Given the description of an element on the screen output the (x, y) to click on. 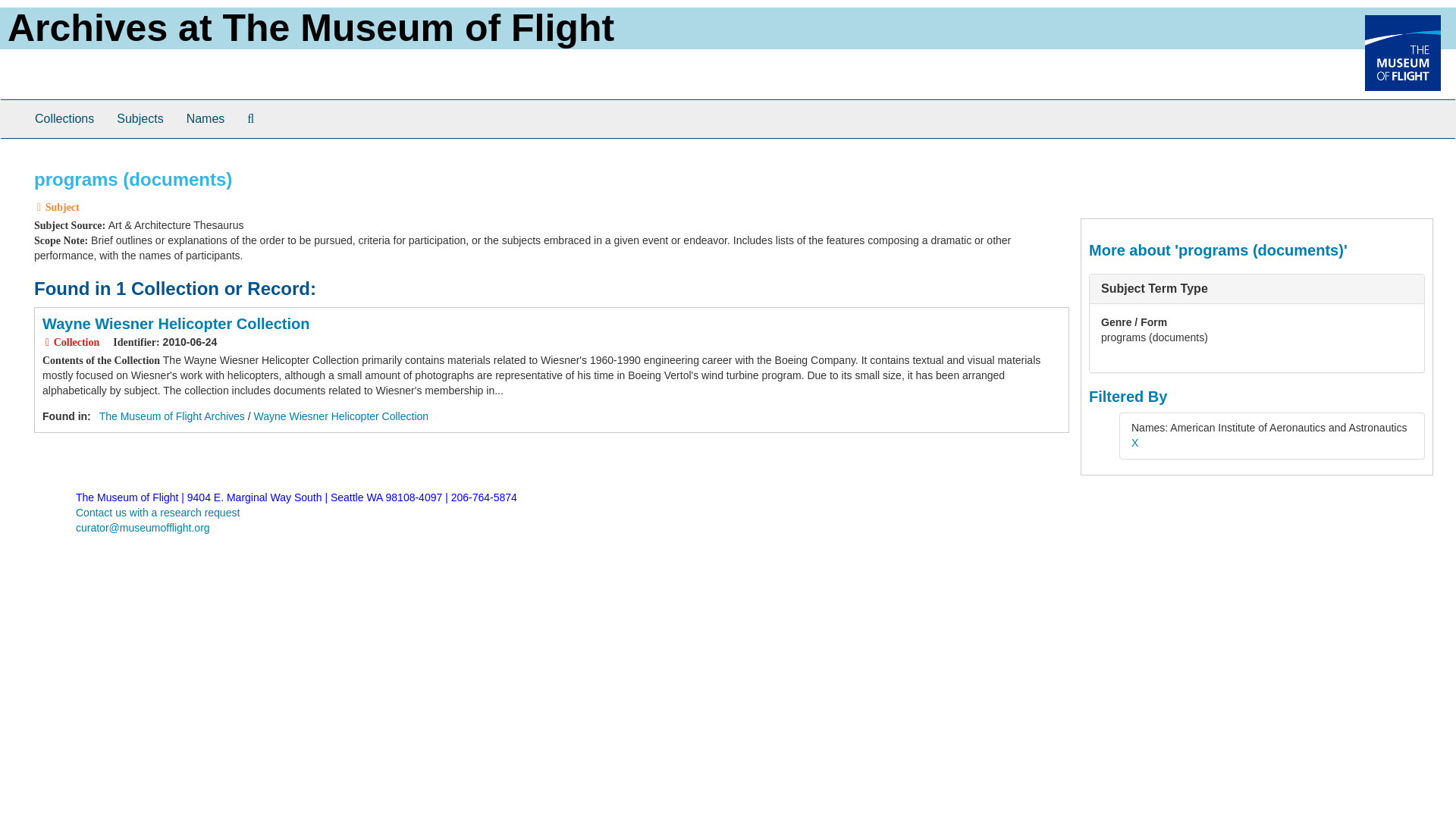
Collections (63, 118)
Subjects (139, 118)
Wayne Wiesner Helicopter Collection (176, 323)
The Museum of Flight Archives (171, 416)
Names (204, 118)
Page Actions (1139, 161)
Wayne Wiesner Helicopter Collection (341, 416)
Contact us with a research request (157, 512)
Subject Term Type (1154, 287)
Archives at The Museum of Flight (310, 27)
